Given the description of an element on the screen output the (x, y) to click on. 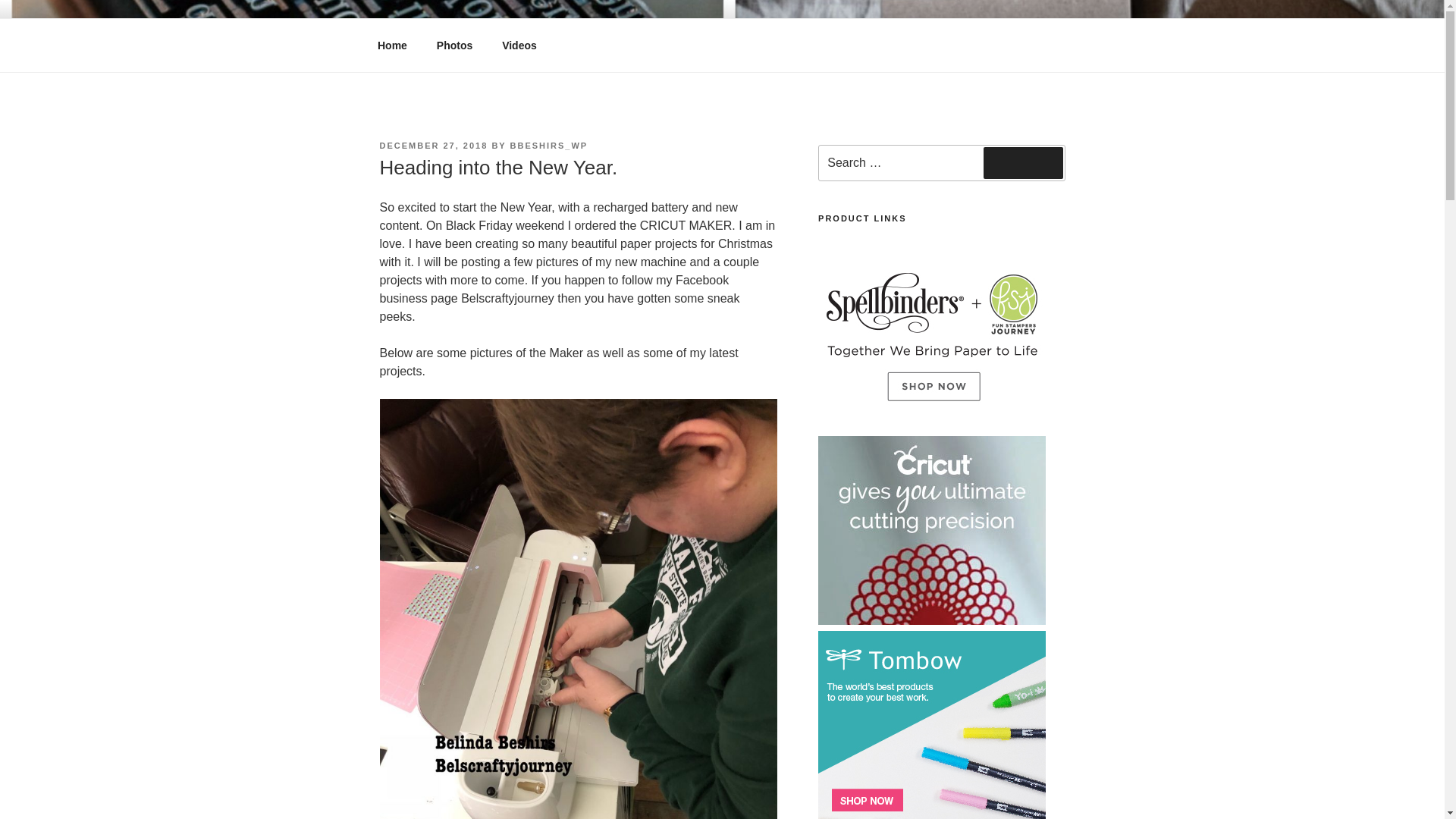
Photos (453, 45)
DECEMBER 27, 2018 (432, 144)
Videos (519, 45)
Home (392, 45)
